Given the description of an element on the screen output the (x, y) to click on. 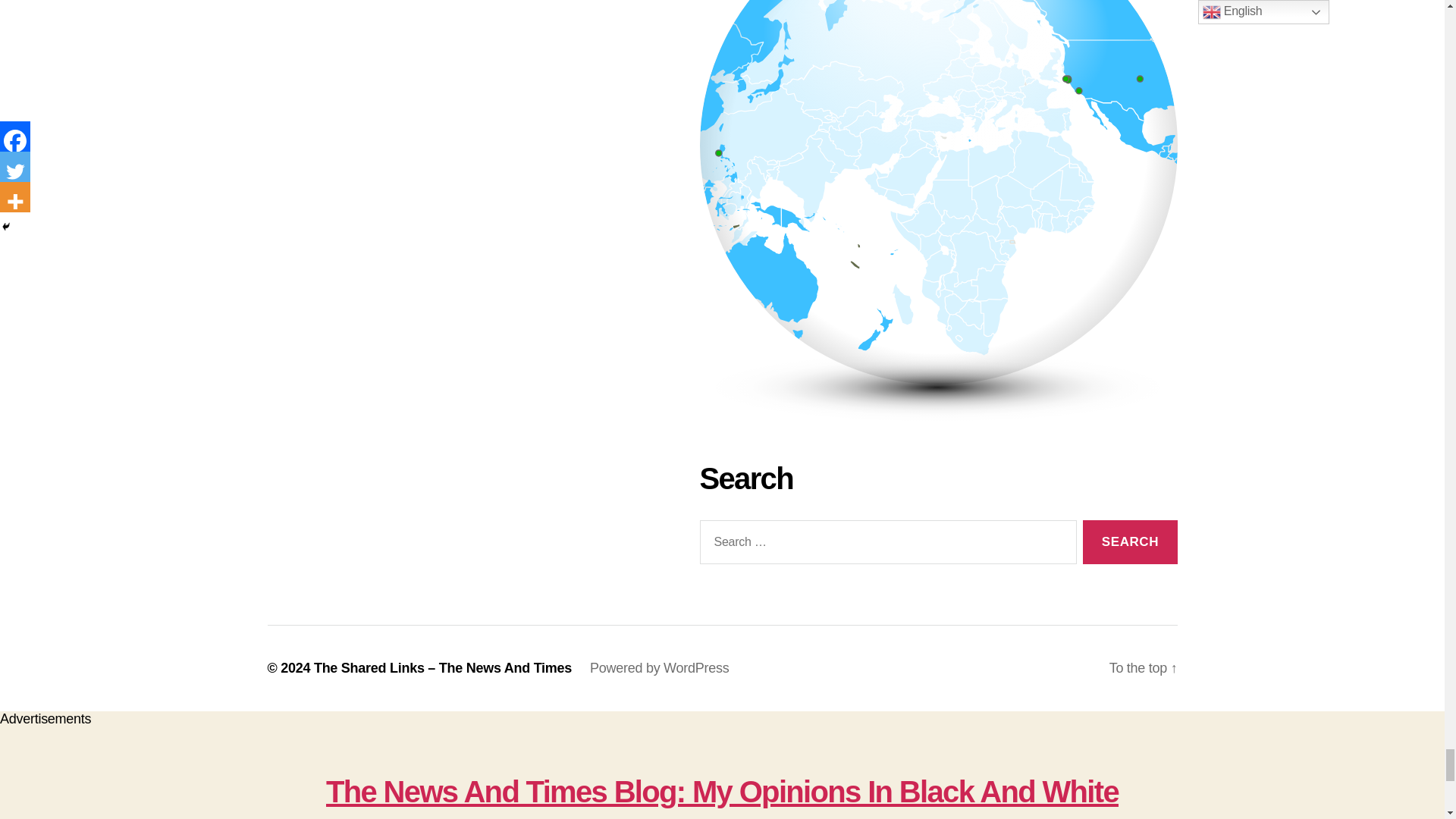
Search (1129, 542)
Search (1129, 542)
